Given the description of an element on the screen output the (x, y) to click on. 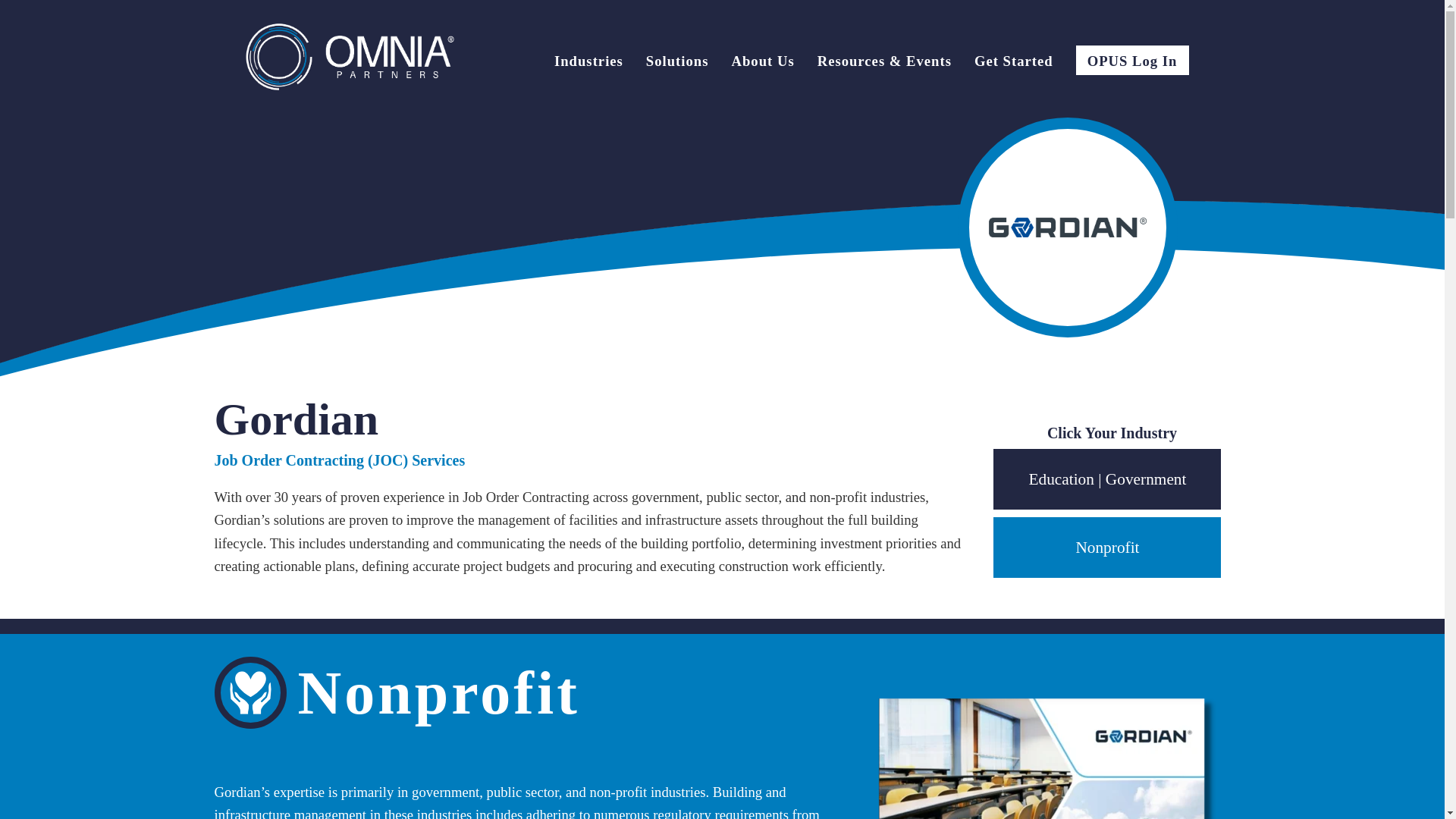
Industries (588, 62)
About Us (761, 62)
Solutions (677, 62)
Solutions (677, 62)
About Us (761, 62)
Industries (588, 62)
OPUS Log In (1132, 60)
Get Started (1013, 62)
